Given the description of an element on the screen output the (x, y) to click on. 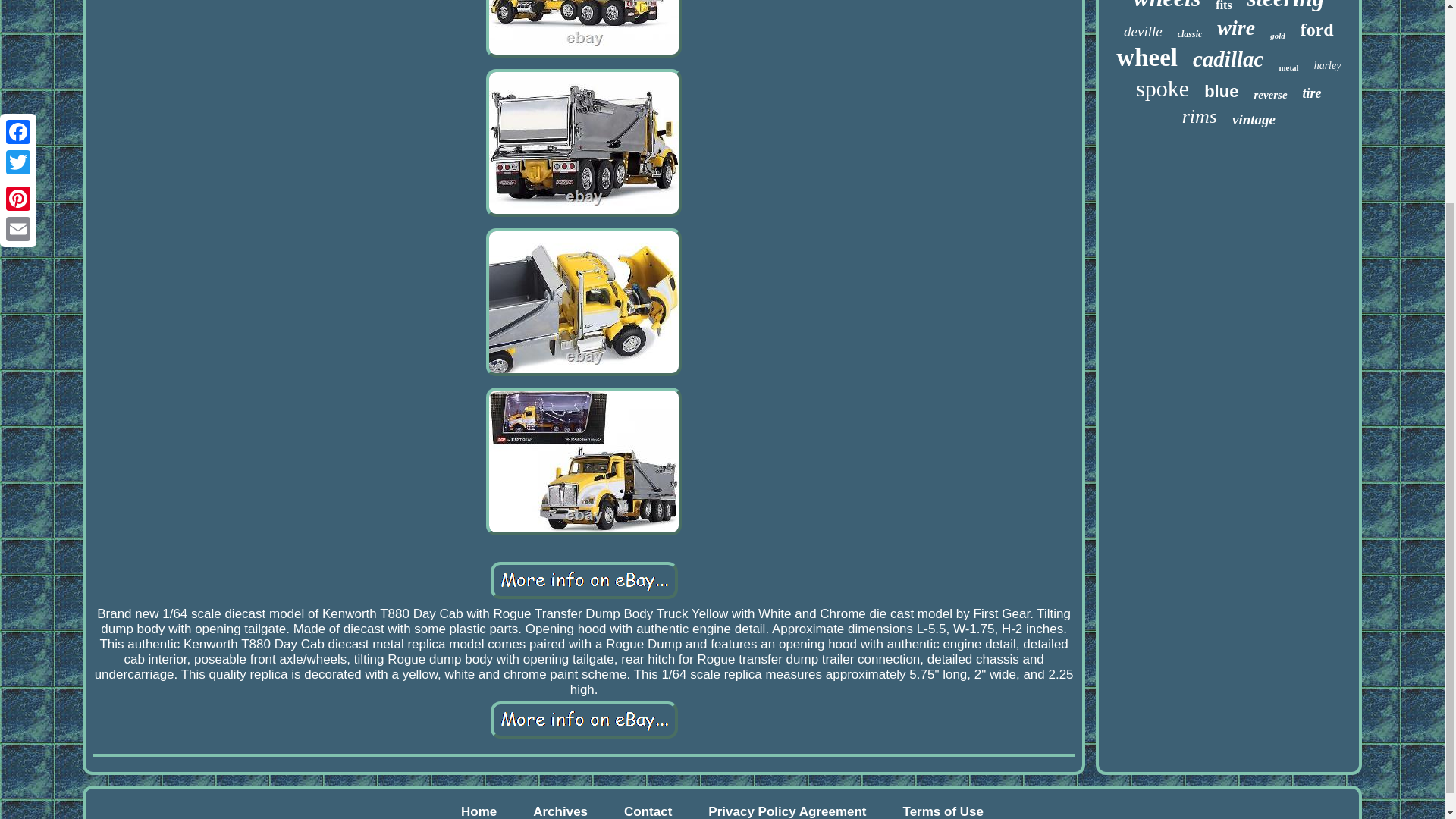
wheels (1165, 6)
deville (1142, 31)
wire (1236, 27)
cadillac (1227, 59)
ford (1316, 29)
metal (1288, 67)
steering (1285, 6)
fits (1223, 6)
classic (1189, 34)
